Given the description of an element on the screen output the (x, y) to click on. 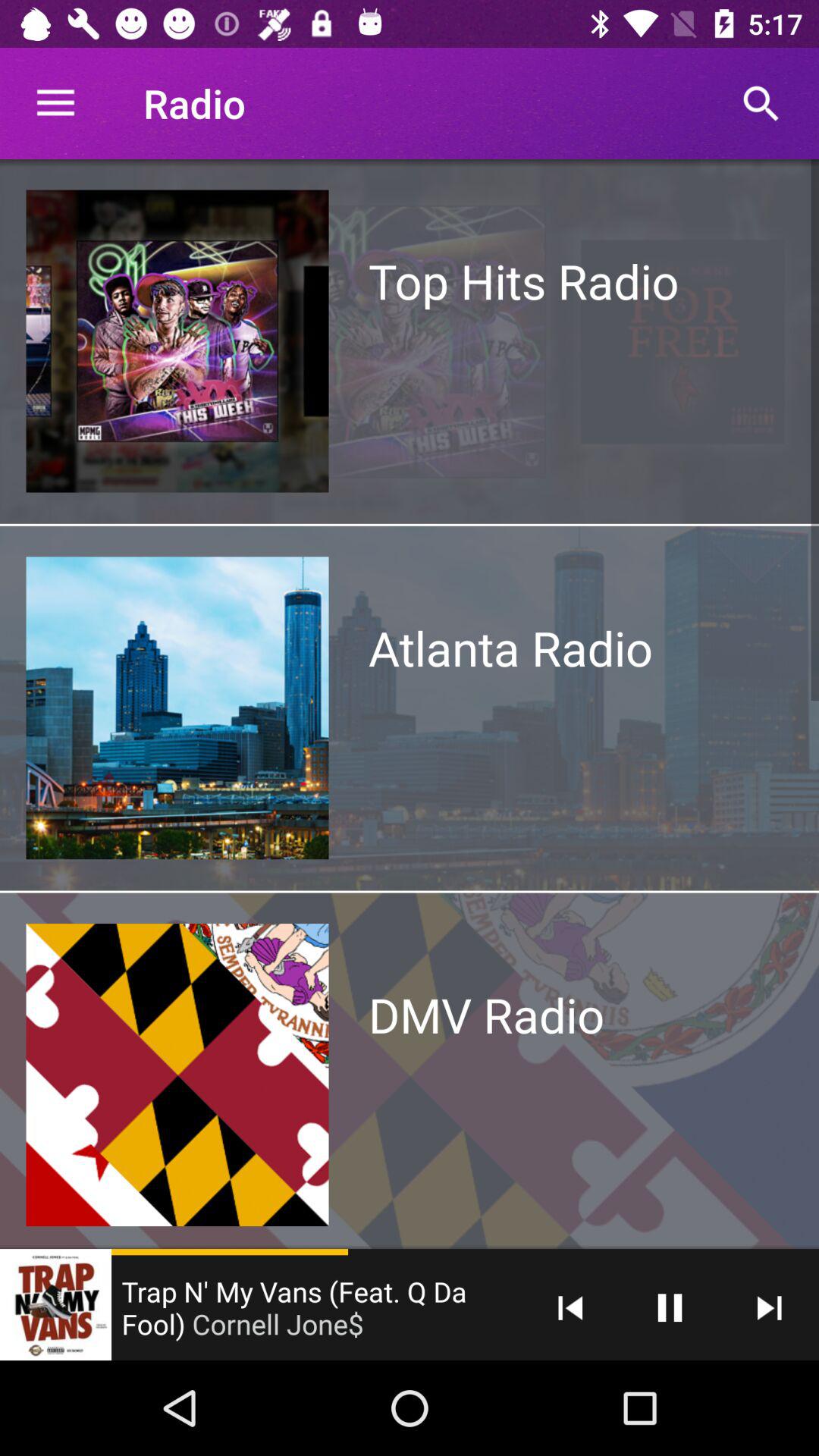
click on the search icon which is on the top right side (761, 103)
select the button which is next to the trap n my vans feat q da fool cornell jone (569, 1307)
